Given the description of an element on the screen output the (x, y) to click on. 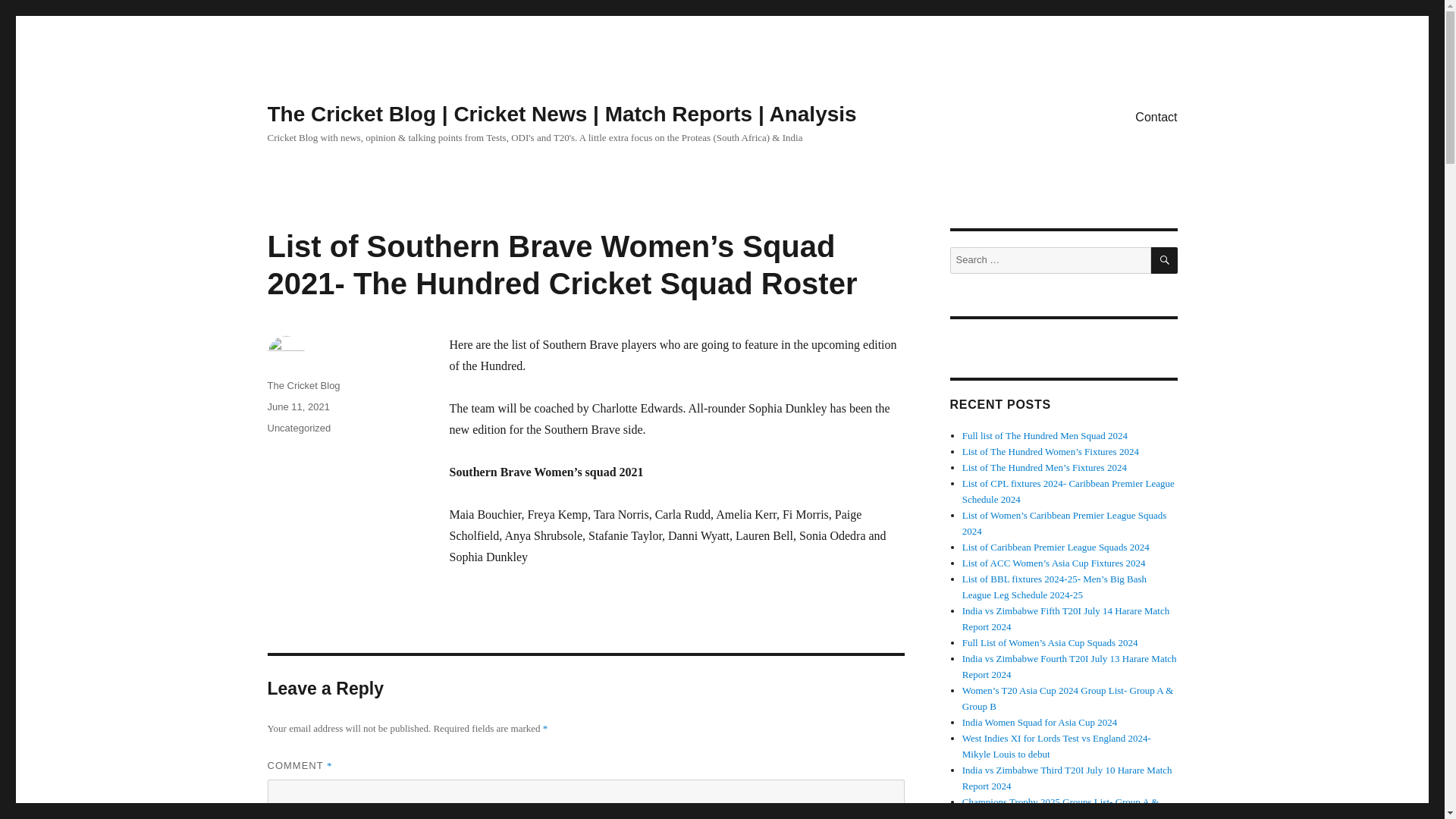
June 11, 2021 (297, 406)
Full list of The Hundred Men Squad 2024 (1044, 435)
The Cricket Blog (302, 385)
India Women Squad for Asia Cup 2024 (1040, 722)
Uncategorized (298, 428)
SEARCH (1164, 260)
List of Caribbean Premier League Squads 2024 (1056, 546)
Contact (1156, 116)
